Given the description of an element on the screen output the (x, y) to click on. 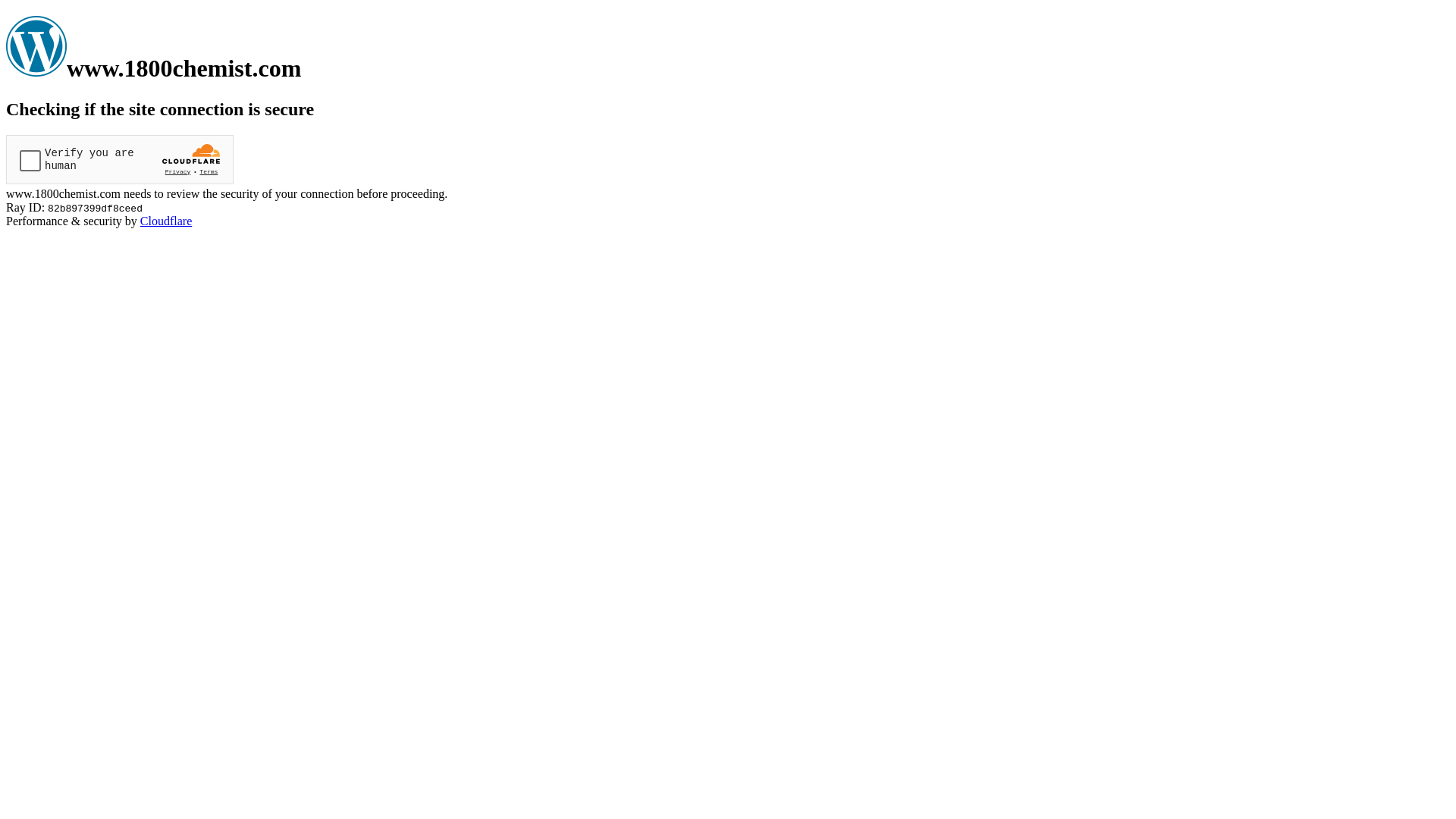
Widget containing a Cloudflare security challenge Element type: hover (119, 159)
Cloudflare Element type: text (165, 220)
